Given the description of an element on the screen output the (x, y) to click on. 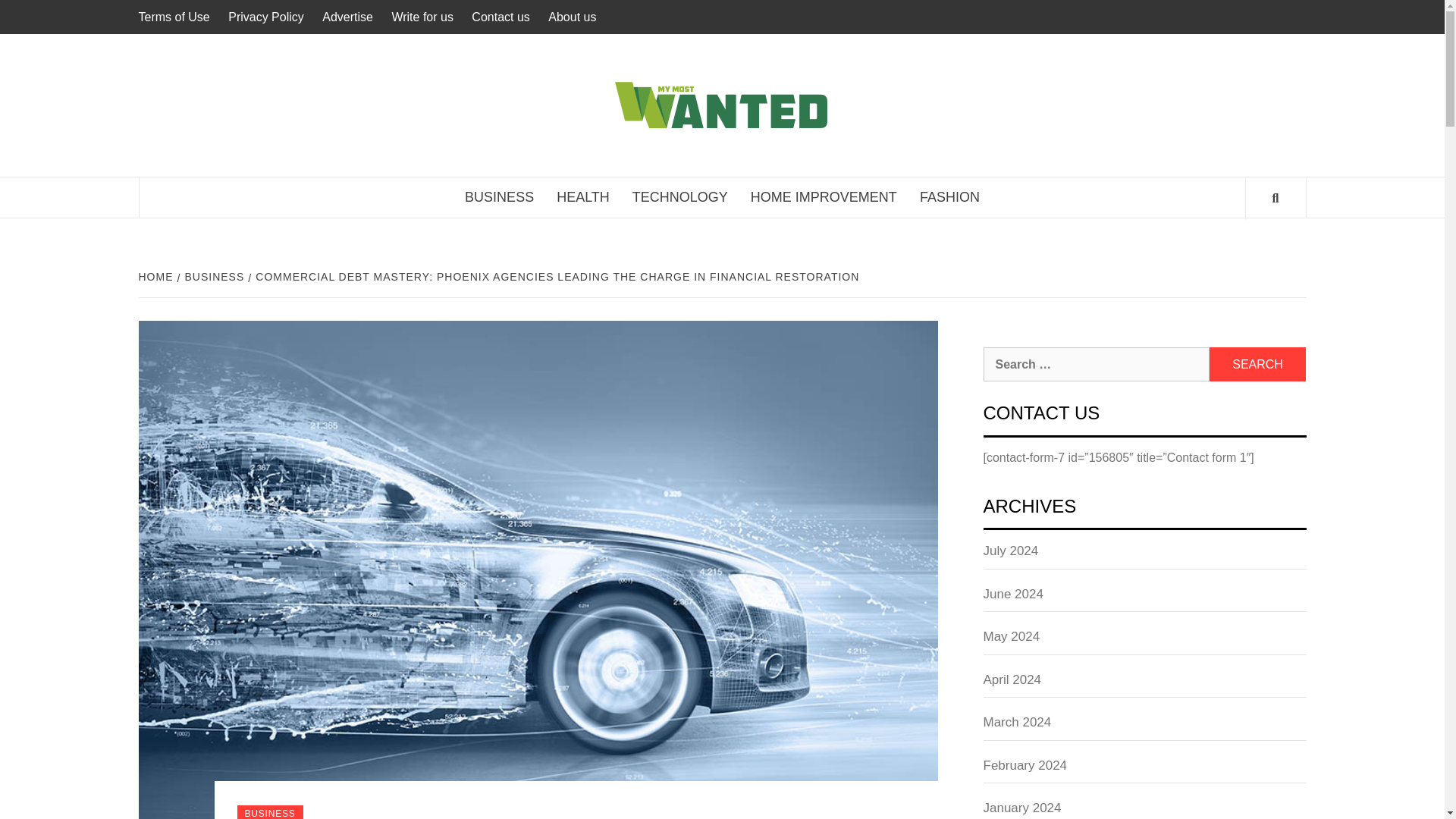
Terms of Use (177, 17)
June 2024 (1144, 598)
Write for us (422, 17)
About us (572, 17)
Advertise (347, 17)
MY MOST WANTED (1006, 95)
BUSINESS (212, 276)
HOME IMPROVEMENT (823, 197)
BUSINESS (498, 197)
FASHION (949, 197)
BUSINESS (268, 812)
Contact us (500, 17)
May 2024 (1144, 641)
Search (1257, 364)
